Given the description of an element on the screen output the (x, y) to click on. 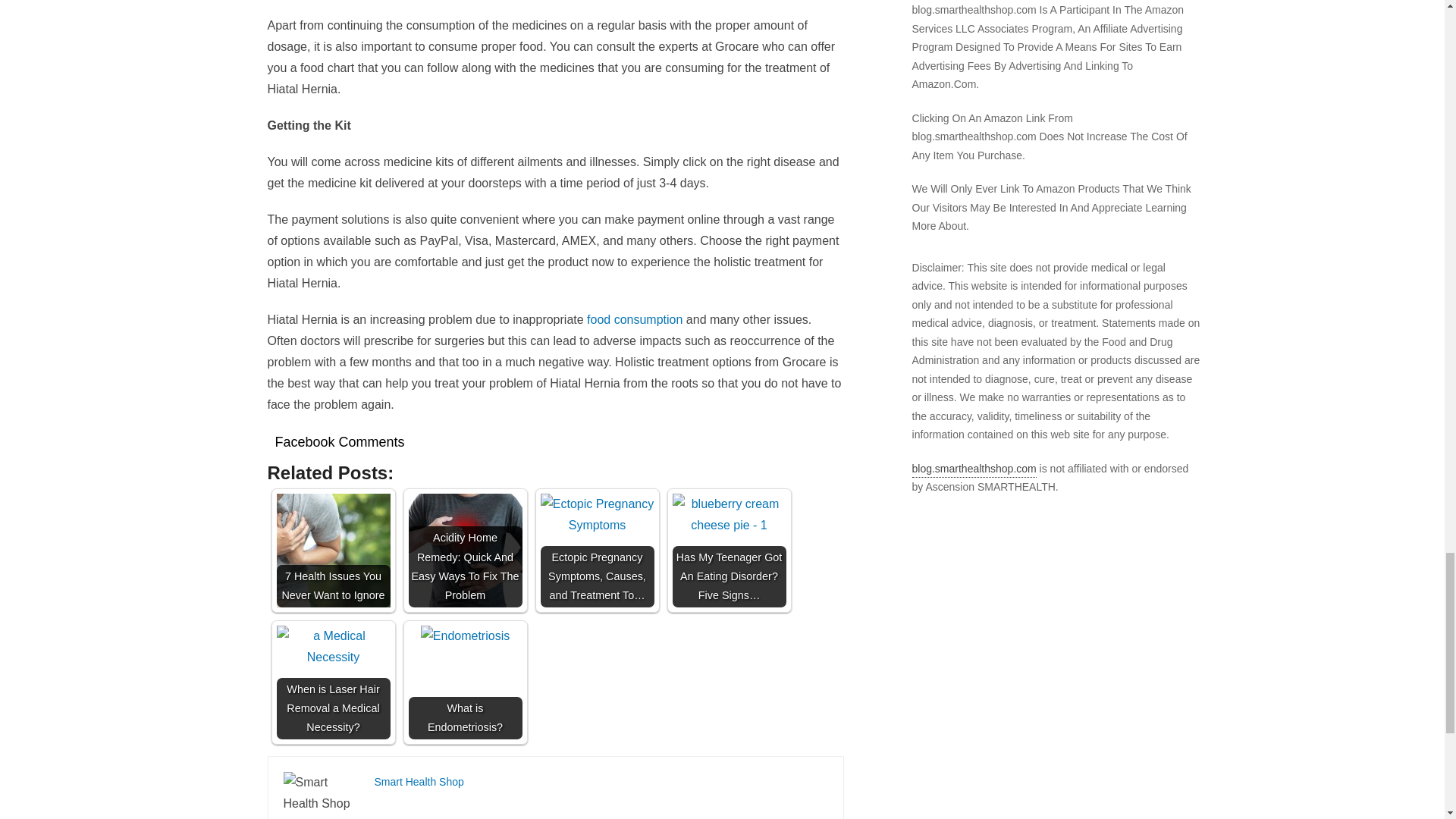
What is Endometriosis? (464, 636)
7 Health Issues You Never Want to Ignore (333, 550)
When is Laser Hair Removal a Medical Necessity? (333, 646)
Acidity Home Remedy: Quick And Easy Ways To Fix The Problem (464, 550)
